Given the description of an element on the screen output the (x, y) to click on. 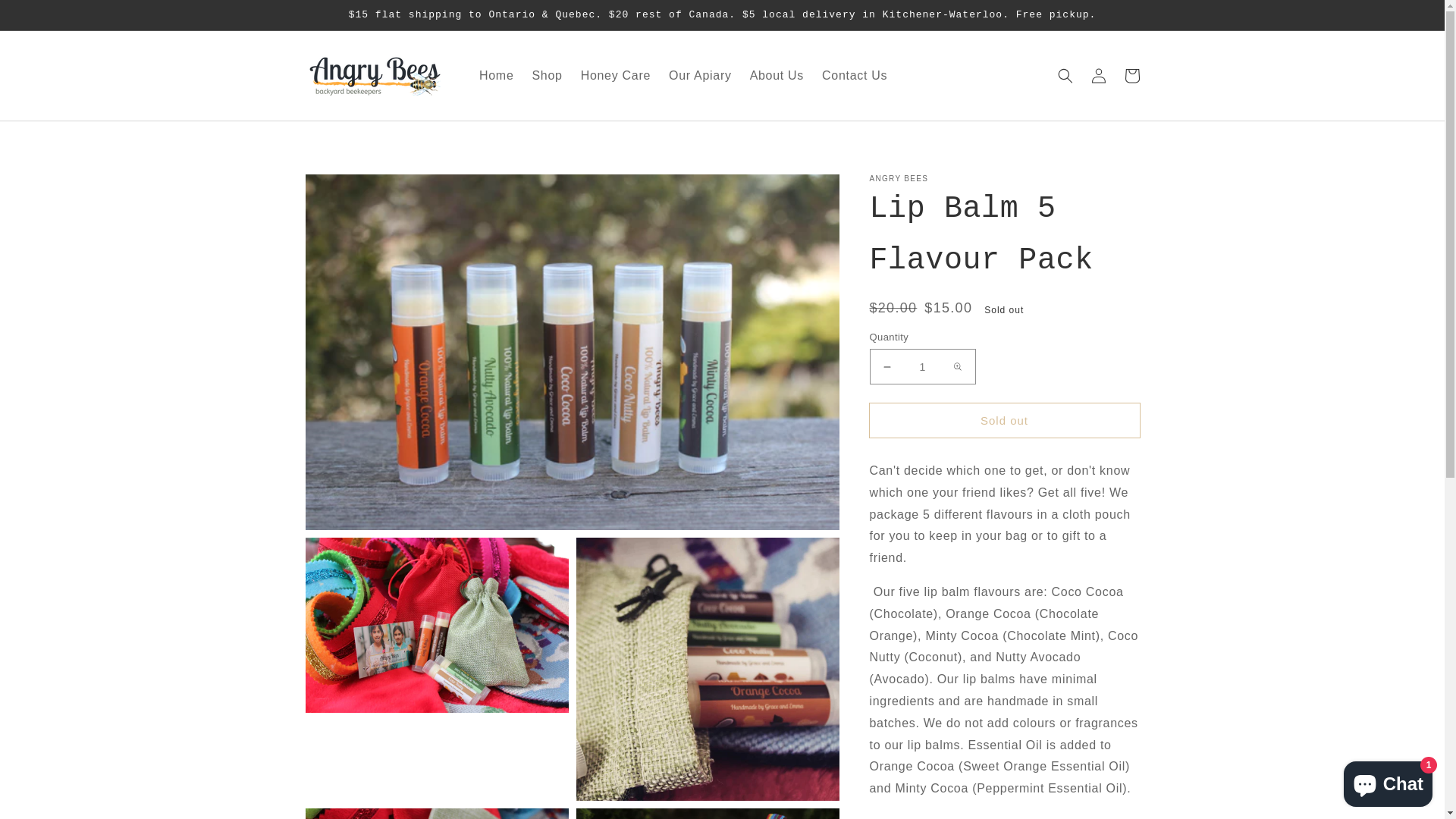
Shop Element type: text (546, 75)
Translation missing: en.products.product.media.open_media Element type: text (707, 668)
Shopify online store chat Element type: hover (1388, 780)
Honey Care Element type: text (615, 75)
Decrease quantity for Lip Balm 5 Flavour Pack Element type: text (887, 366)
Translation missing: en.products.product.media.open_media Element type: text (435, 624)
Home Element type: text (496, 75)
Increase quantity for Lip Balm 5 Flavour Pack Element type: text (957, 366)
Translation missing: en.accessibility.skip_to_product_info Element type: text (349, 189)
Contact Us Element type: text (854, 75)
Translation missing: en.products.product.media.open_media Element type: text (571, 352)
Our Apiary Element type: text (699, 75)
About Us Element type: text (776, 75)
Cart Element type: text (1131, 75)
Sold out Element type: text (1004, 420)
Log in Element type: text (1097, 75)
